Given the description of an element on the screen output the (x, y) to click on. 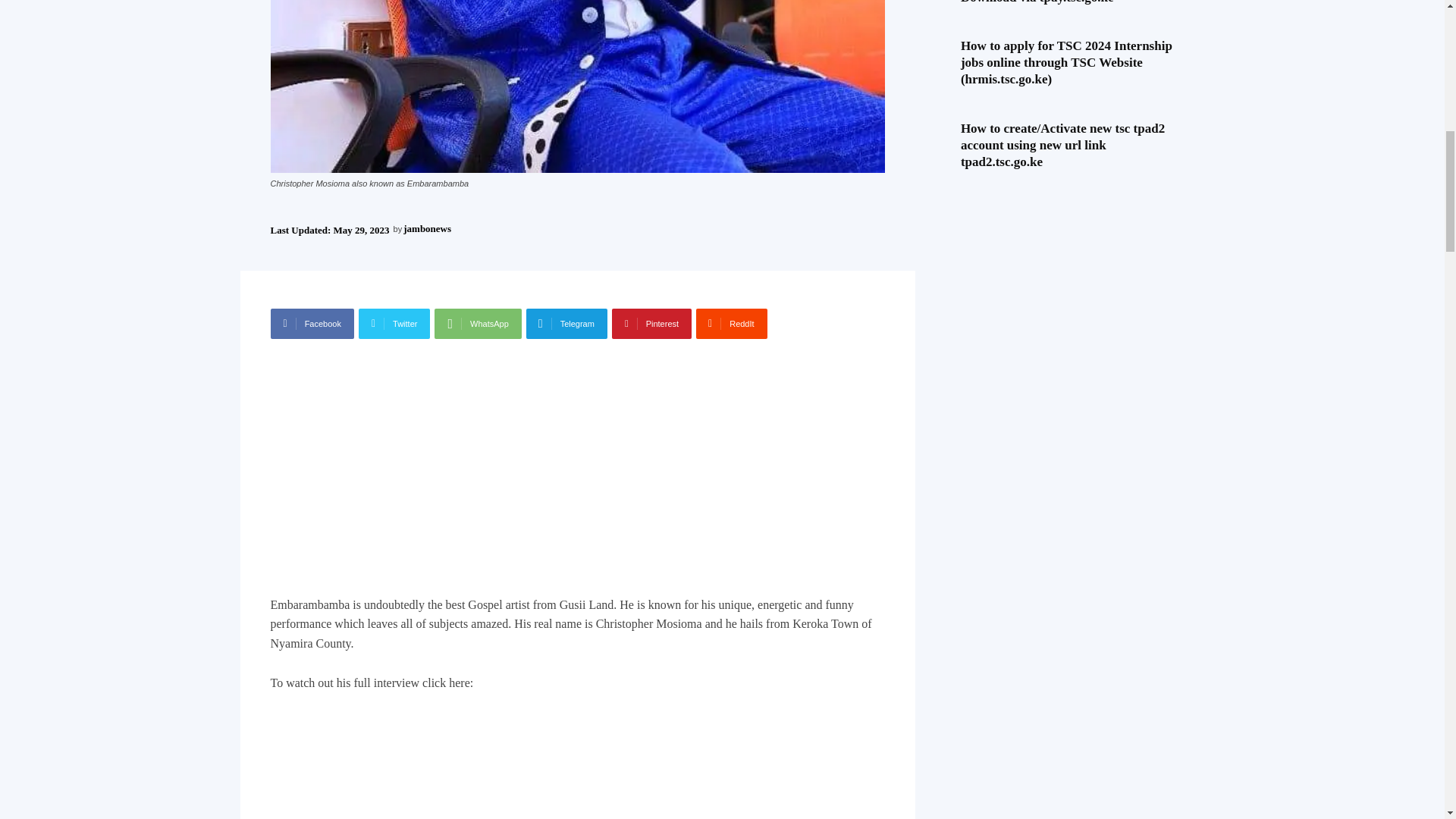
WhatsApp (477, 323)
Facebook (311, 323)
Twitter (394, 323)
6059769237415171 (576, 86)
